Given the description of an element on the screen output the (x, y) to click on. 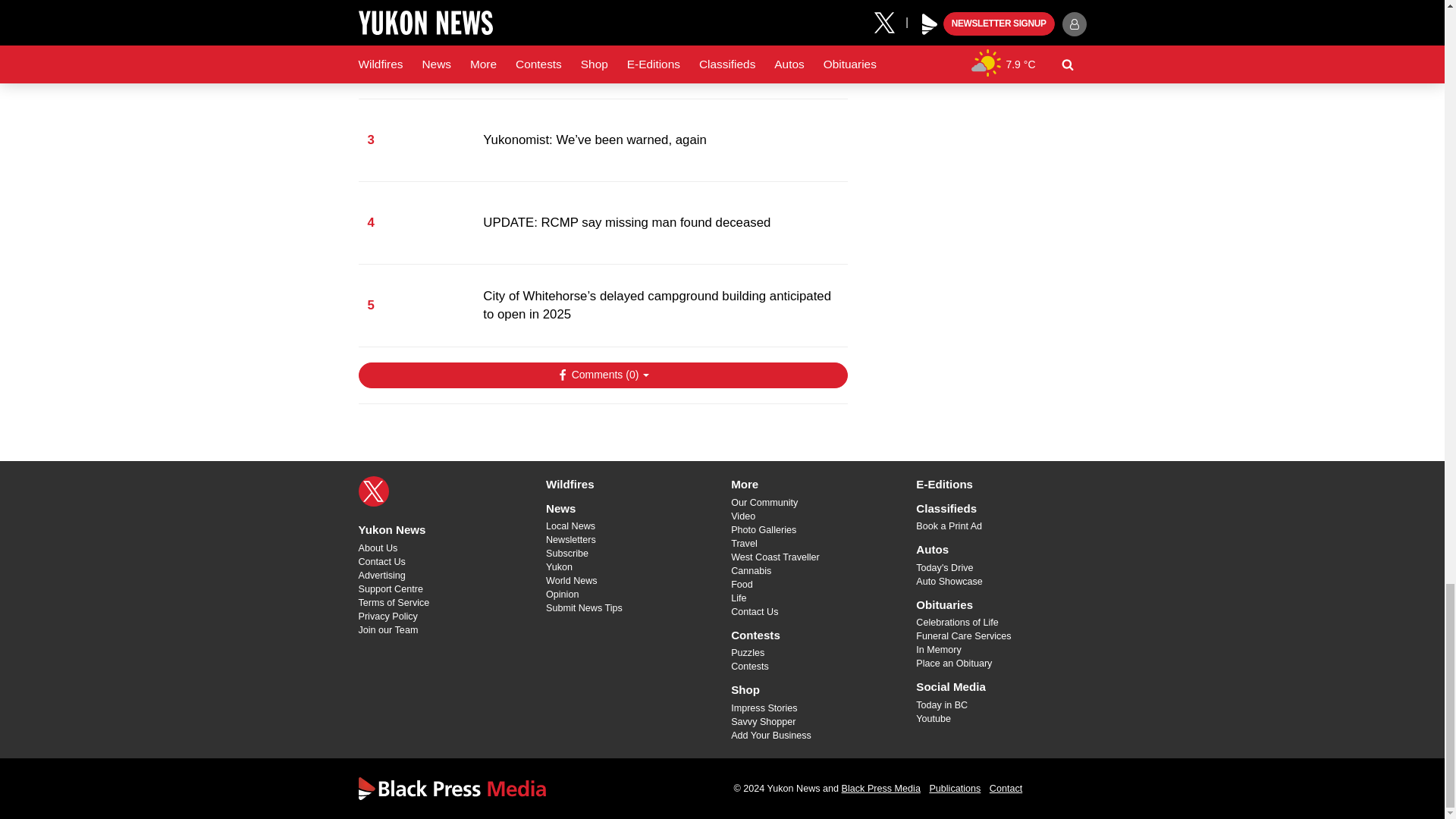
X (373, 490)
Show Comments (602, 375)
